Given the description of an element on the screen output the (x, y) to click on. 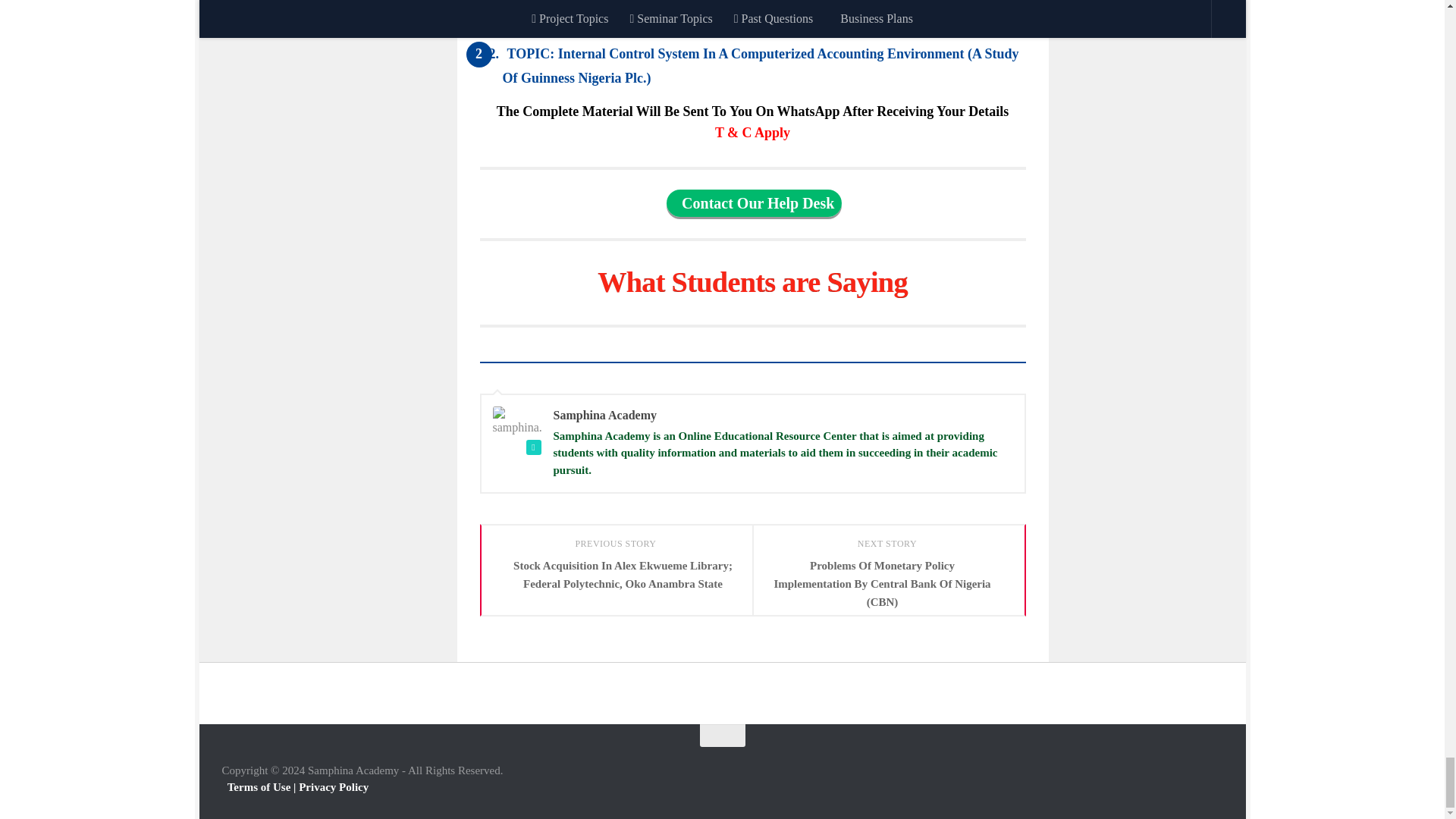
Contact Information Page (753, 203)
Contact Our Help Desk (753, 203)
Samphina Terms and Conditions (752, 132)
